Given the description of an element on the screen output the (x, y) to click on. 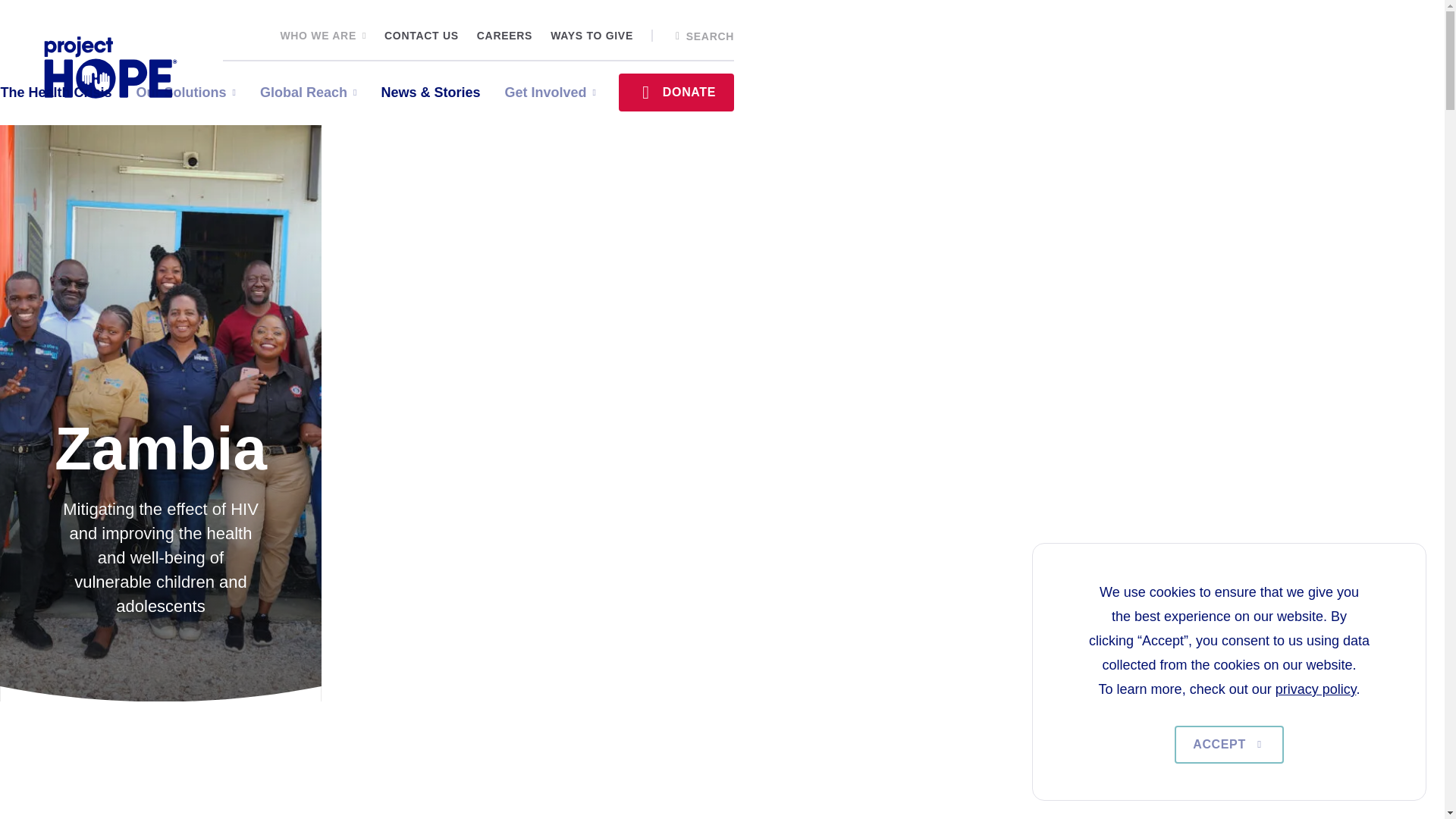
Global Reach (308, 93)
The Health Crisis (56, 93)
Donate (675, 92)
Our Solutions (185, 93)
Accept (1229, 744)
Get Involved (549, 93)
